Given the description of an element on the screen output the (x, y) to click on. 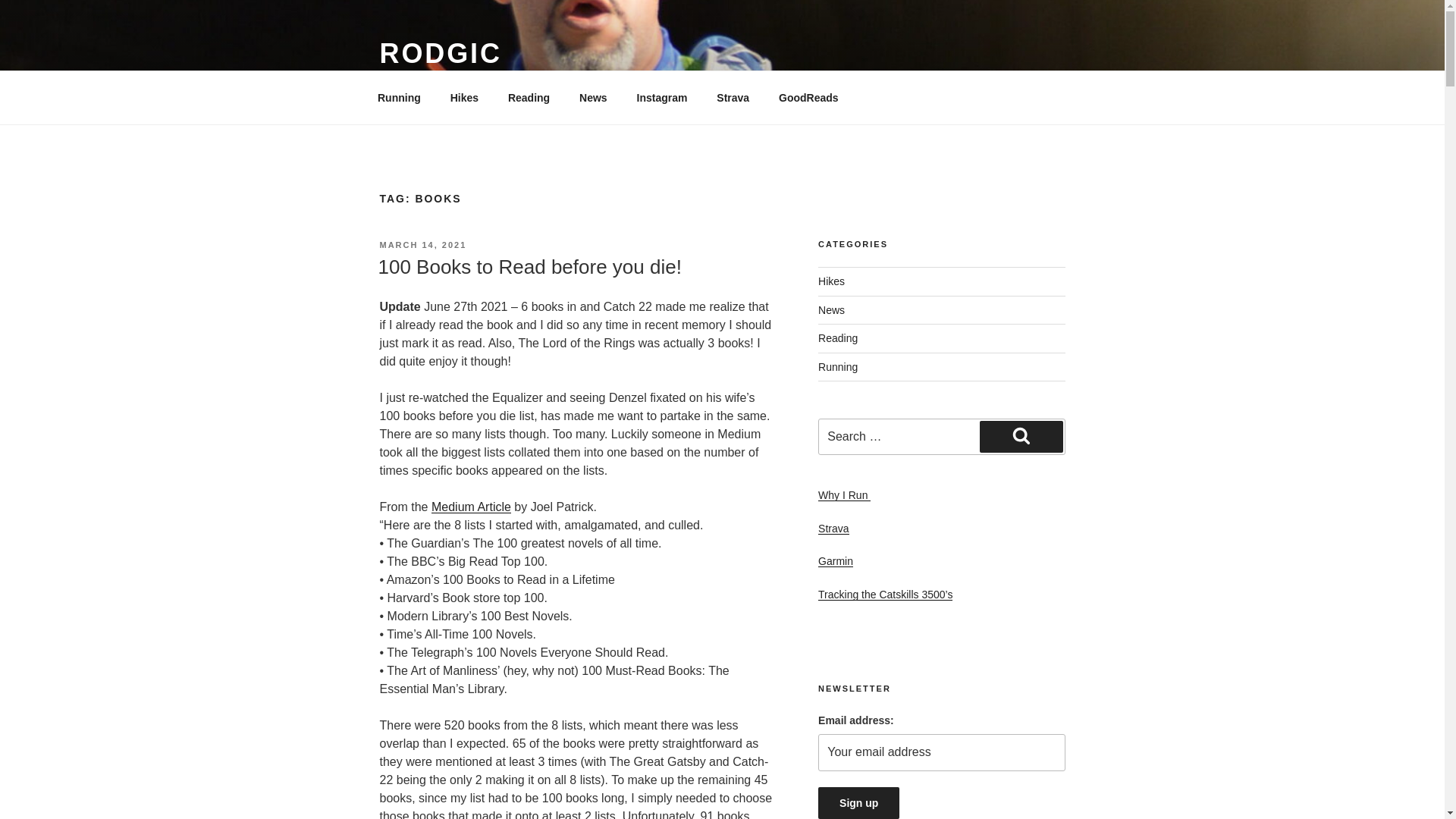
Hikes (464, 97)
Sign up (858, 803)
Medium Article (470, 506)
News (831, 309)
Instagram (661, 97)
Why I Run  (844, 494)
Reading (837, 337)
100 Books to Read before you die! (529, 266)
News (593, 97)
Reading (528, 97)
